Given the description of an element on the screen output the (x, y) to click on. 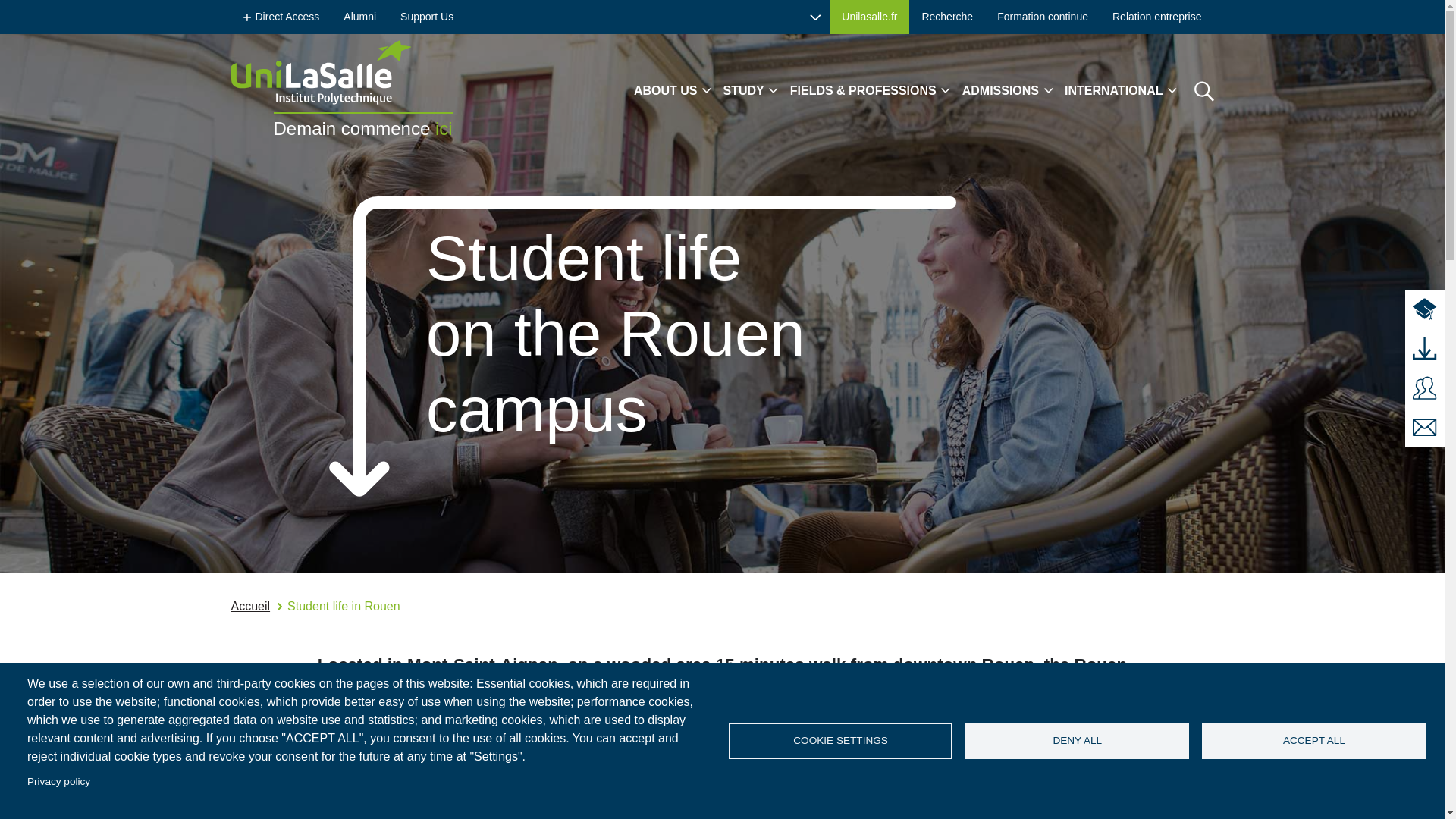
Support Us (426, 17)
Recherche (946, 17)
Skip to main content (60, 10)
Formation continue (1042, 17)
Home (340, 72)
Relation entreprise (1157, 17)
Unilasalle.fr (868, 17)
